Given the description of an element on the screen output the (x, y) to click on. 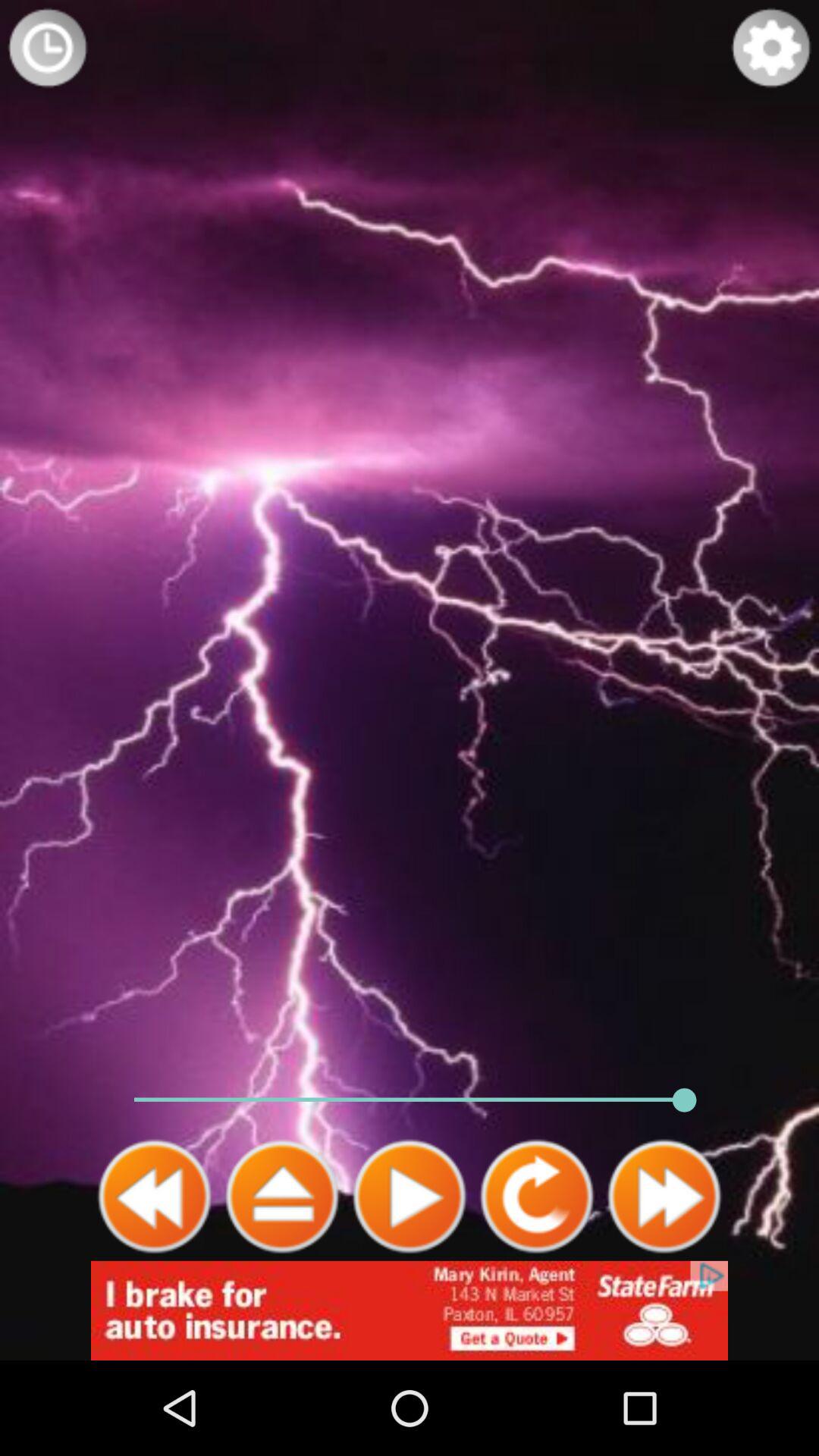
fast forward music (664, 1196)
